Given the description of an element on the screen output the (x, y) to click on. 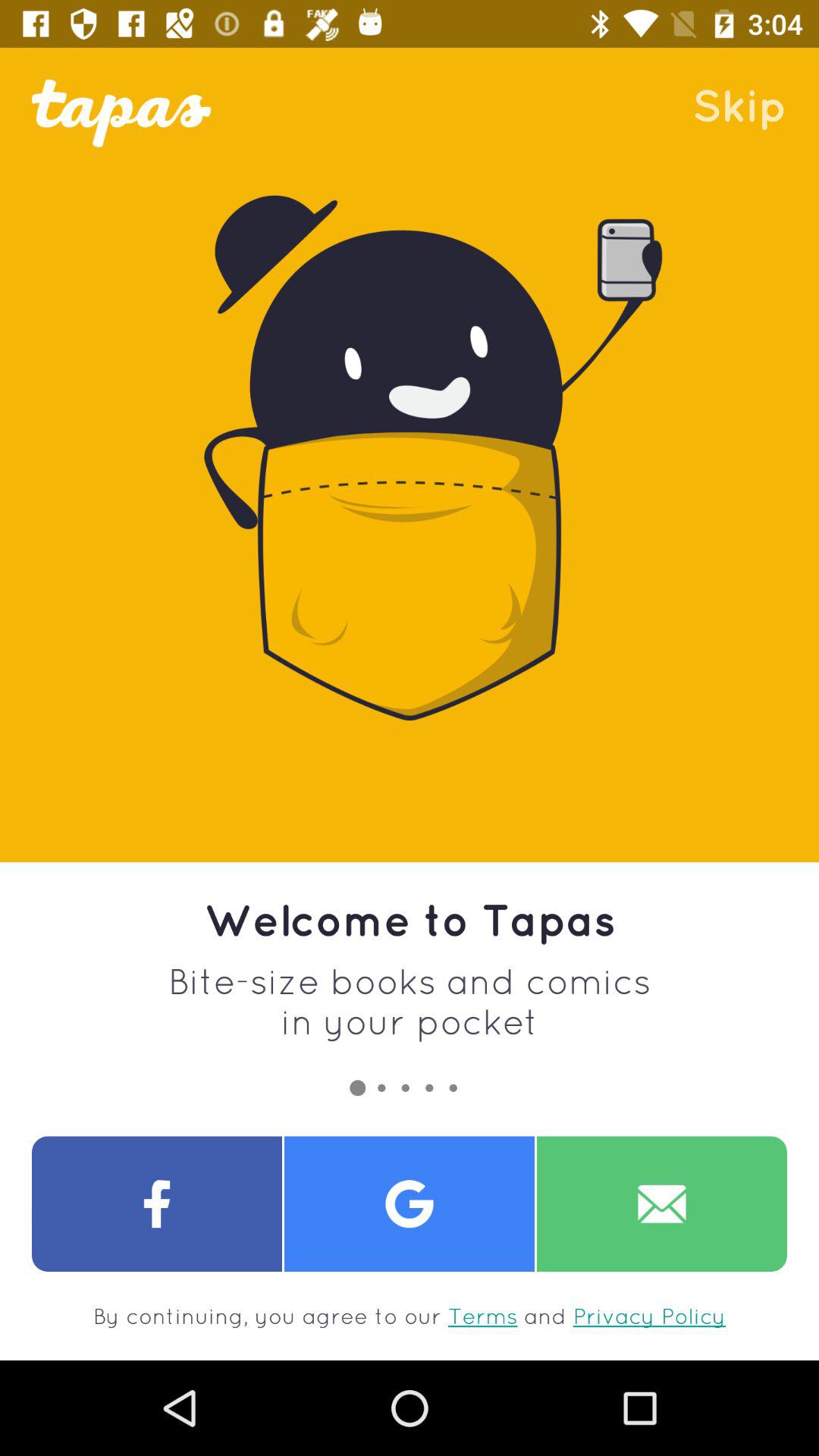
turn on the by continuing you item (409, 1315)
